Given the description of an element on the screen output the (x, y) to click on. 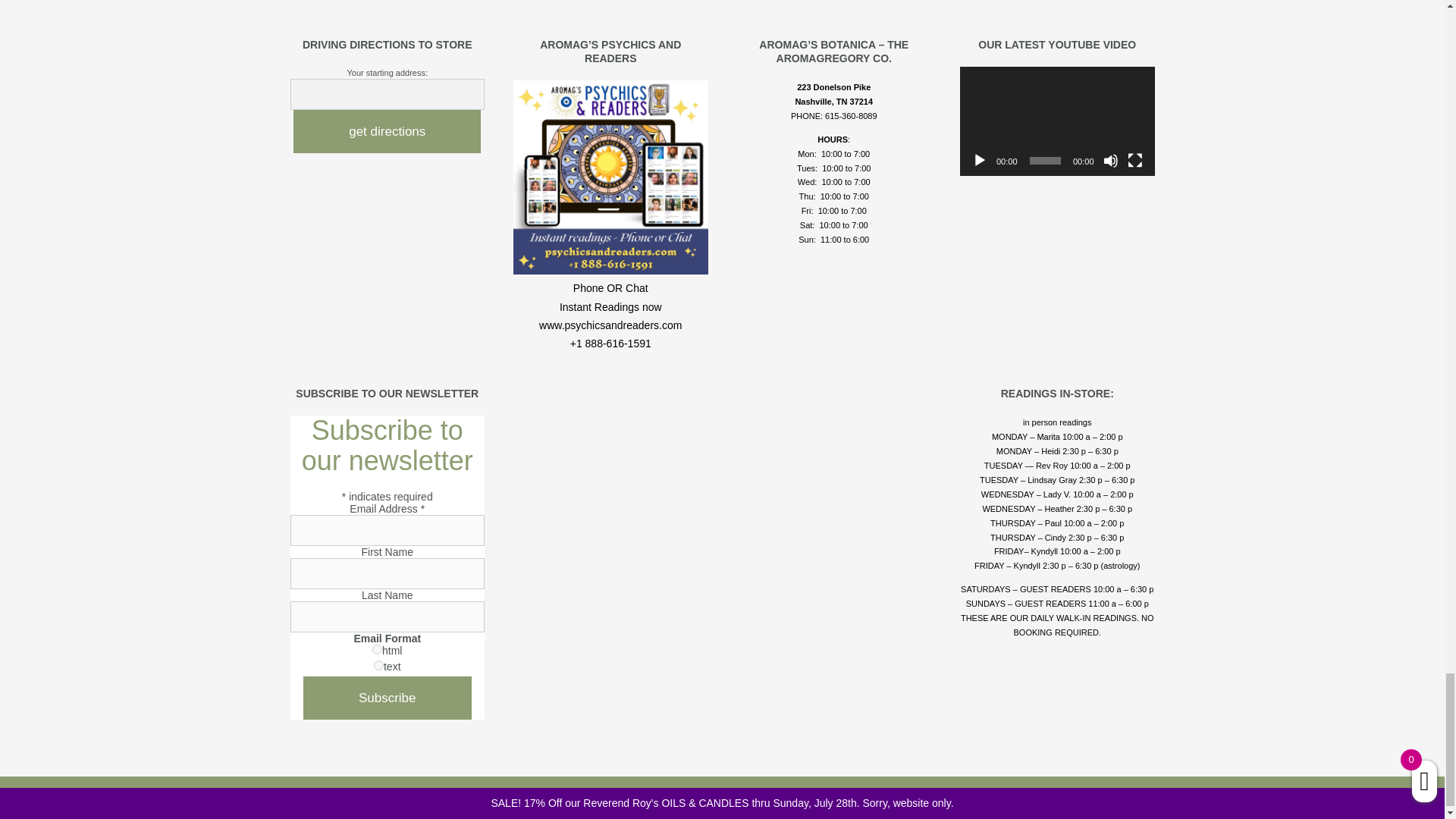
get directions (387, 131)
html (376, 649)
www.psychicsandreaders.com (610, 270)
Mute (1110, 160)
text (379, 665)
Play (979, 160)
Subscribe (386, 697)
